Given the description of an element on the screen output the (x, y) to click on. 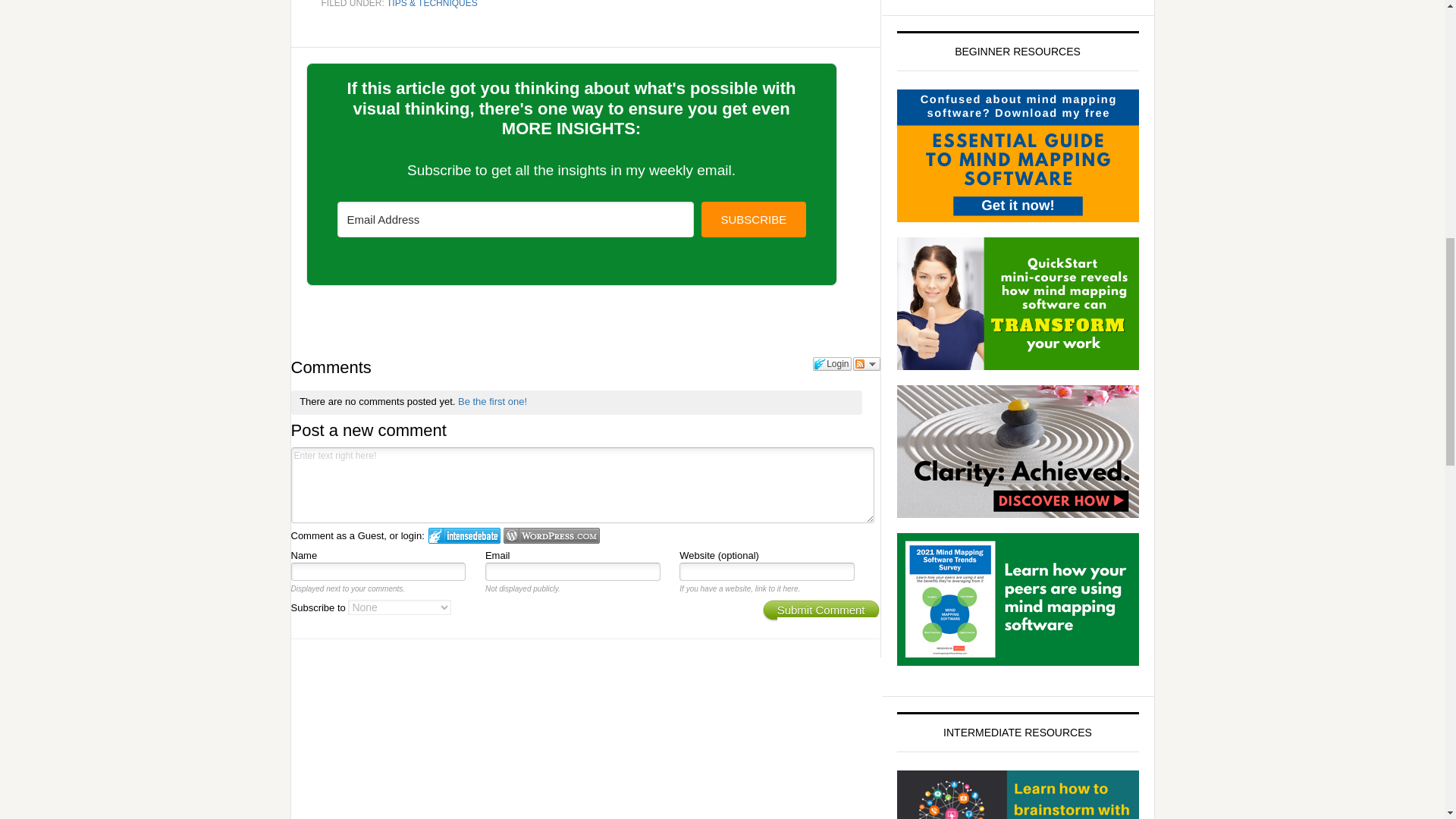
Login (831, 364)
SUBSCRIBE (753, 219)
